Given the description of an element on the screen output the (x, y) to click on. 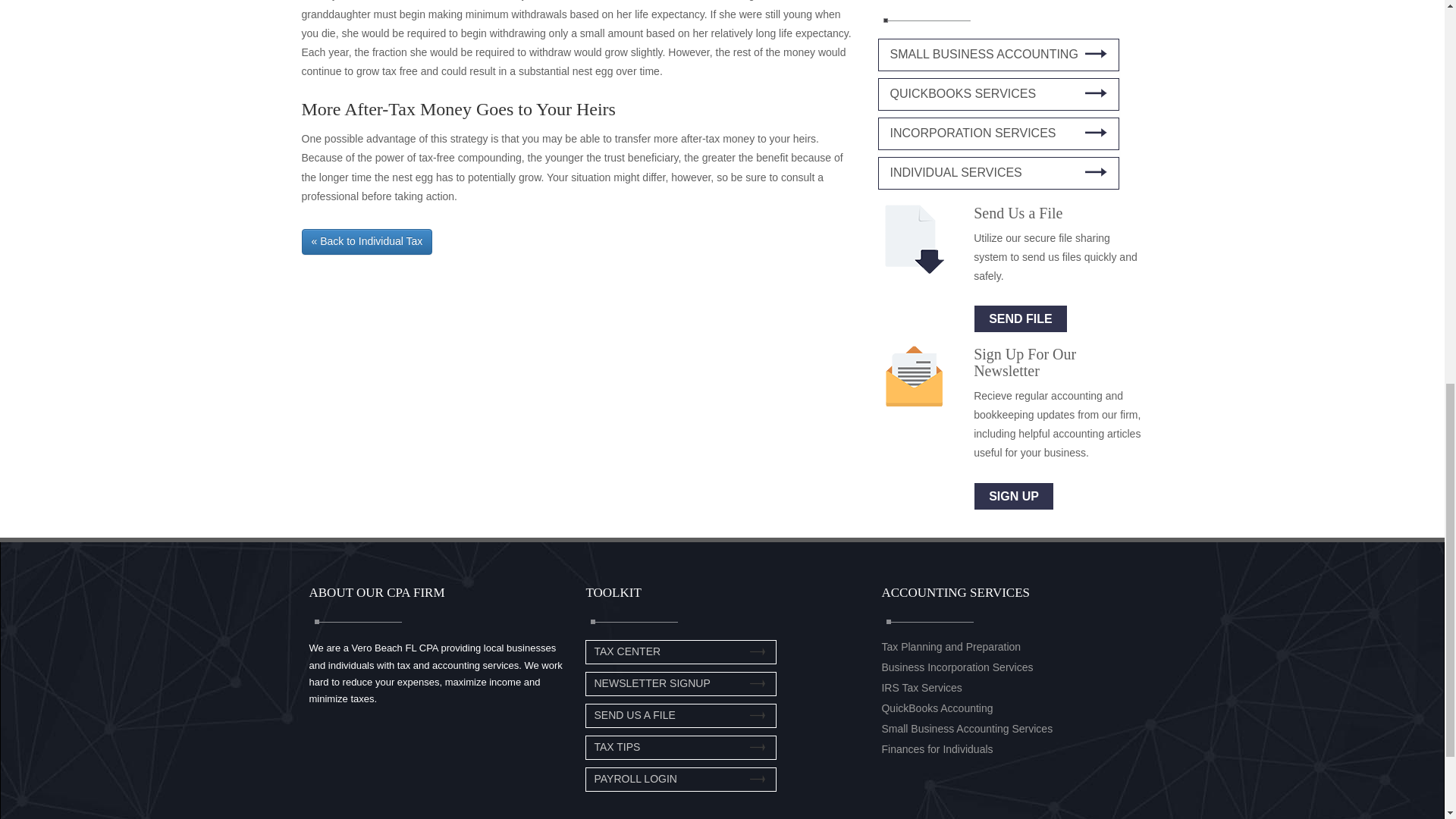
NEWSLETTER SIGNUP (652, 683)
QUICKBOOKS SERVICES (998, 93)
INCORPORATION SERVICES (998, 133)
SEND FILE (1020, 318)
Tax Planning and Preparation (950, 646)
SIGN UP (1014, 496)
SMALL BUSINESS ACCOUNTING (998, 54)
QuickBooks Accounting (936, 707)
Small Business Accounting Services (966, 728)
IRS Tax Services (920, 687)
TAX CENTER (627, 651)
TAX TIPS (617, 746)
Business Incorporation Services (956, 666)
INDIVIDUAL SERVICES (998, 173)
PAYROLL LOGIN (635, 778)
